Given the description of an element on the screen output the (x, y) to click on. 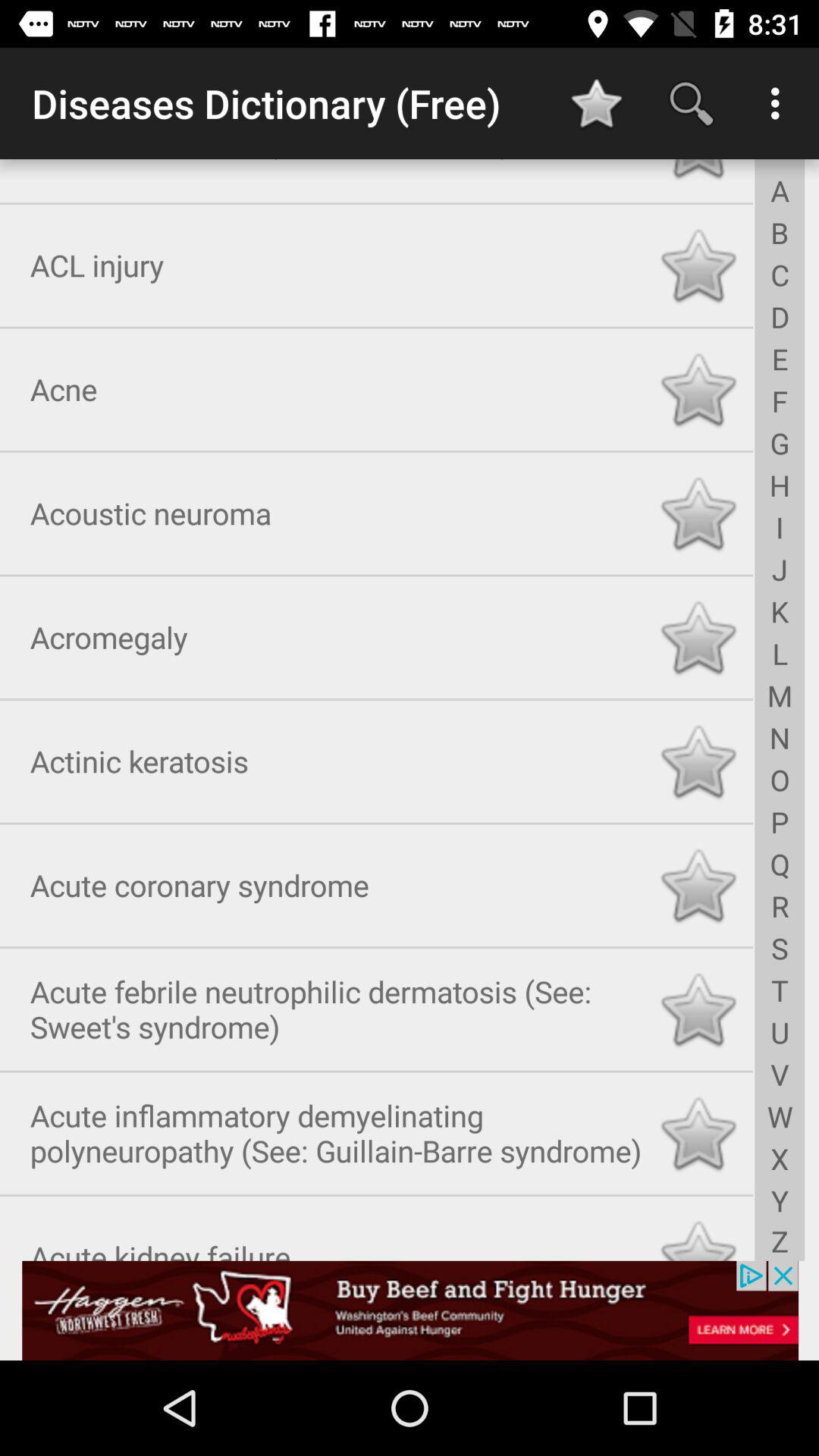
click star to favorite (697, 634)
